Given the description of an element on the screen output the (x, y) to click on. 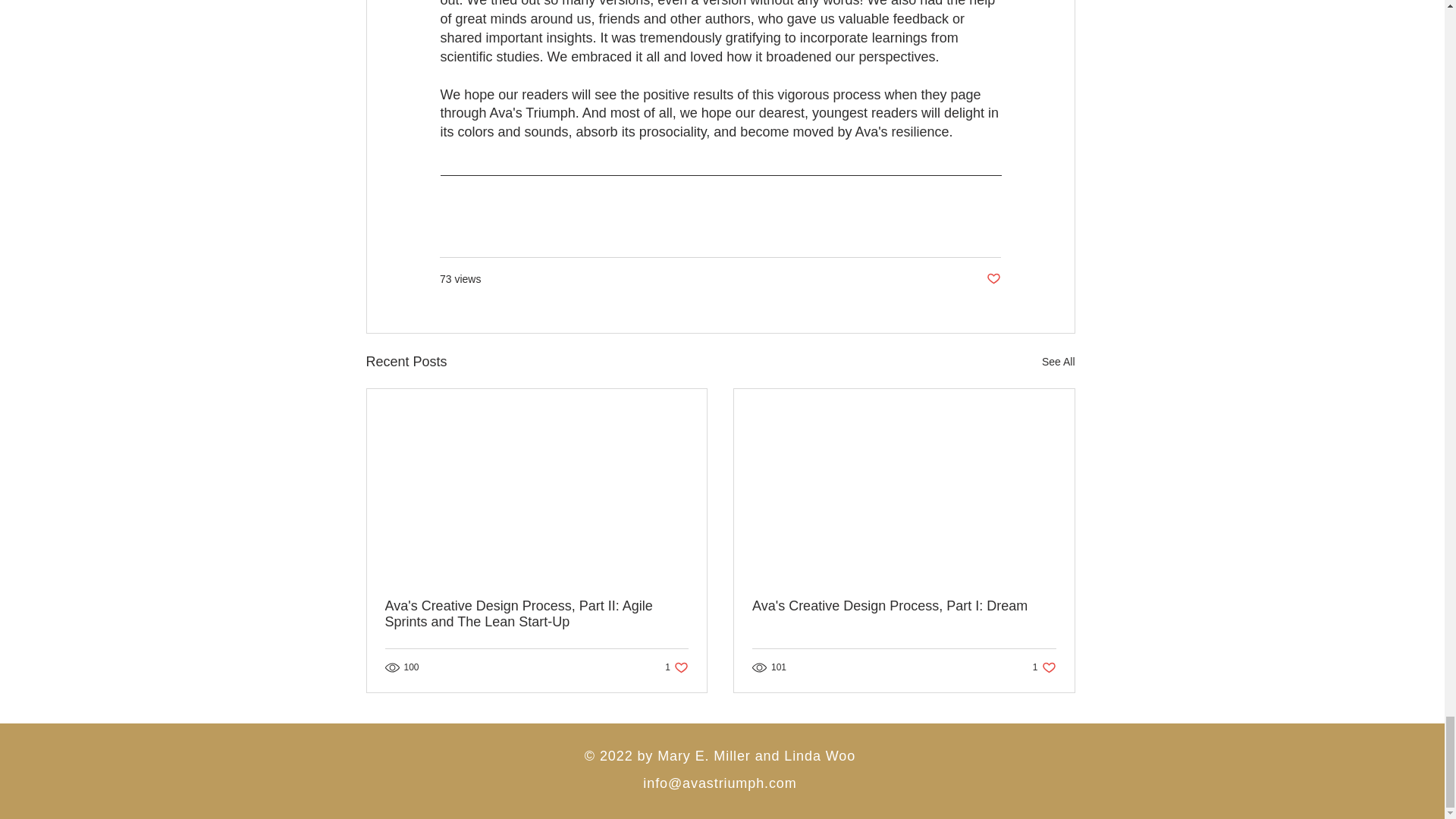
Ava's Creative Design Process, Part I: Dream (676, 667)
See All (904, 606)
Post not marked as liked (1044, 667)
